Given the description of an element on the screen output the (x, y) to click on. 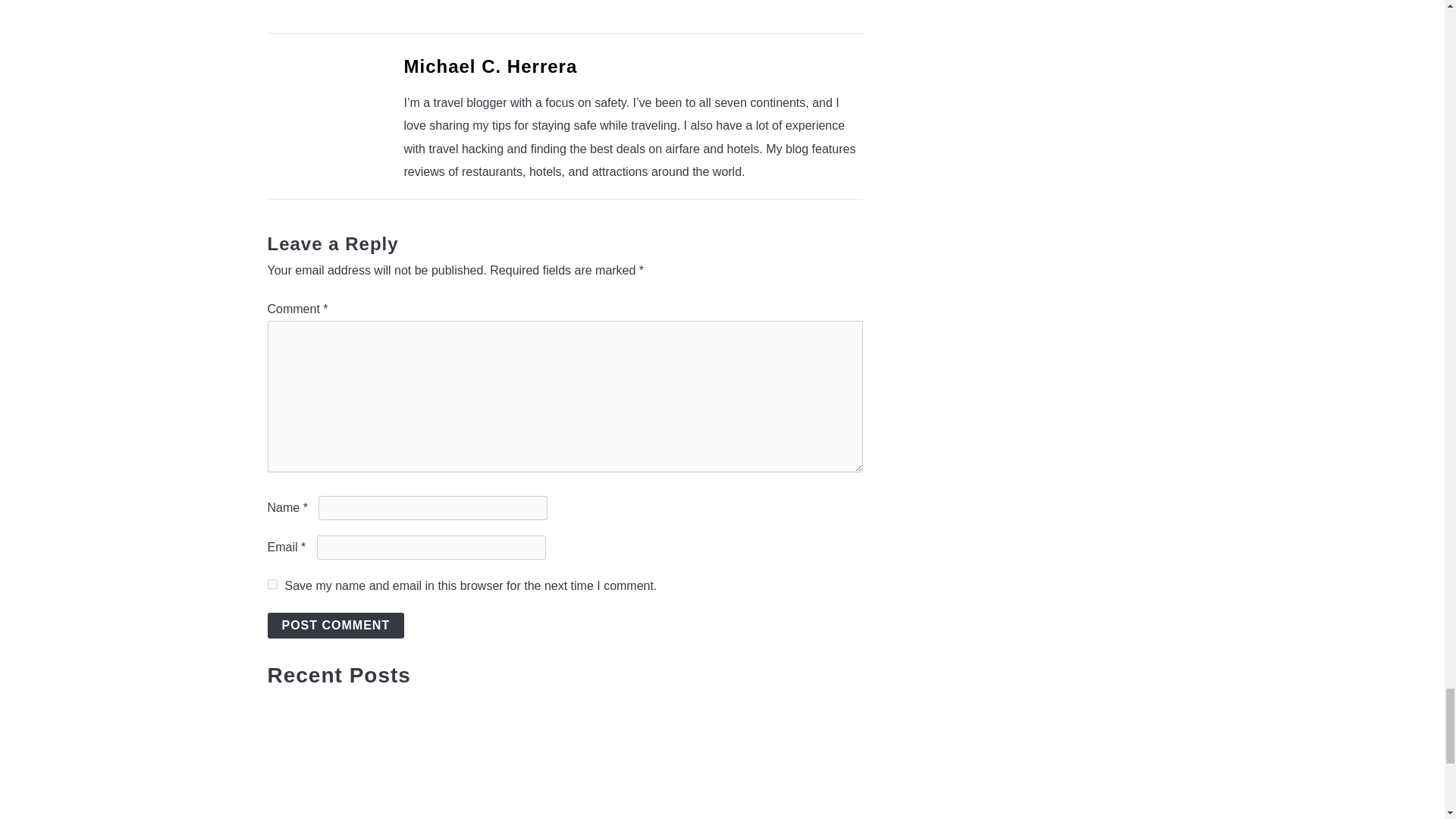
yes (271, 583)
Post Comment (335, 625)
